Given the description of an element on the screen output the (x, y) to click on. 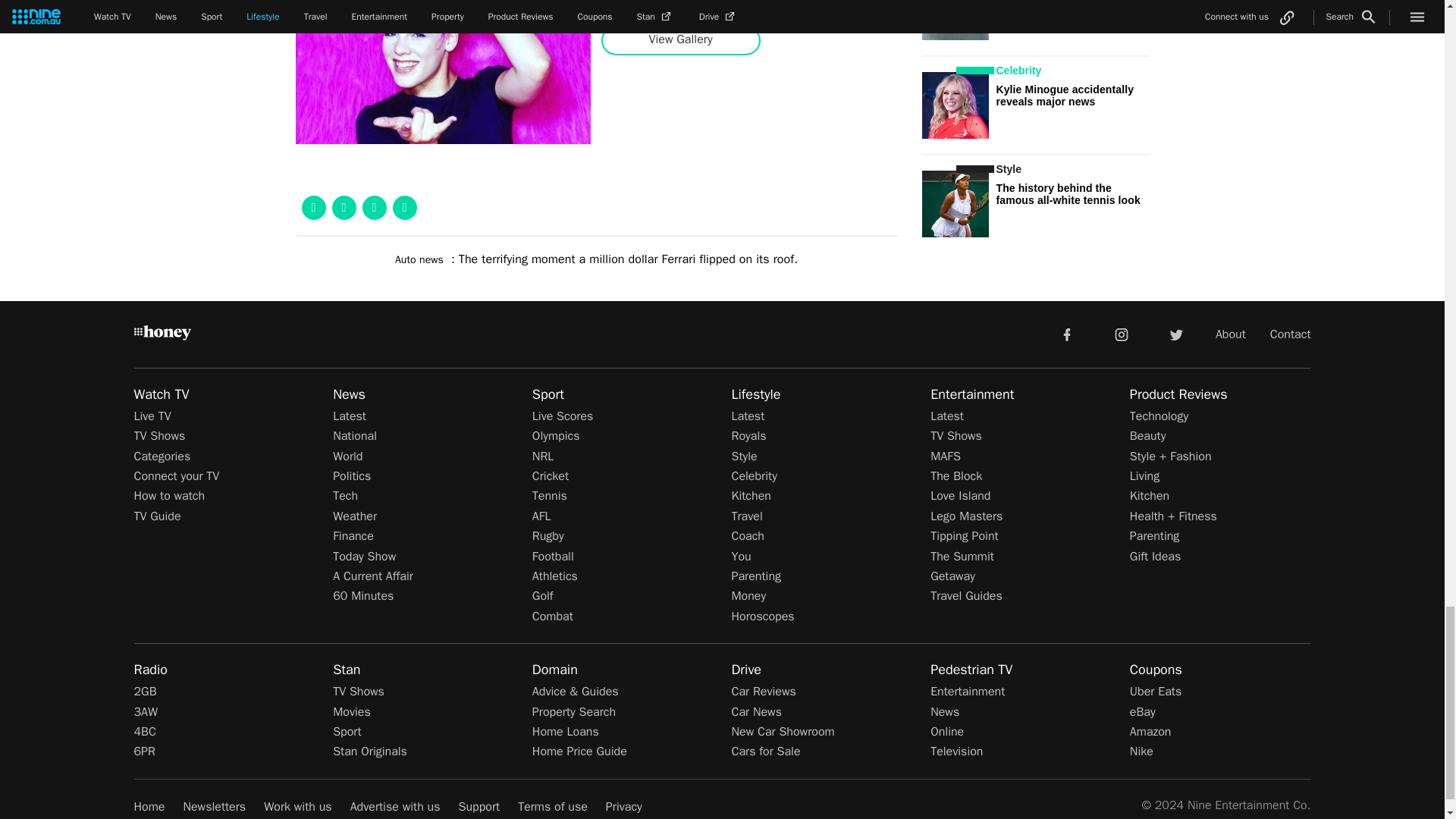
twitter (1175, 333)
facebook (1066, 333)
instagram (1121, 333)
